Given the description of an element on the screen output the (x, y) to click on. 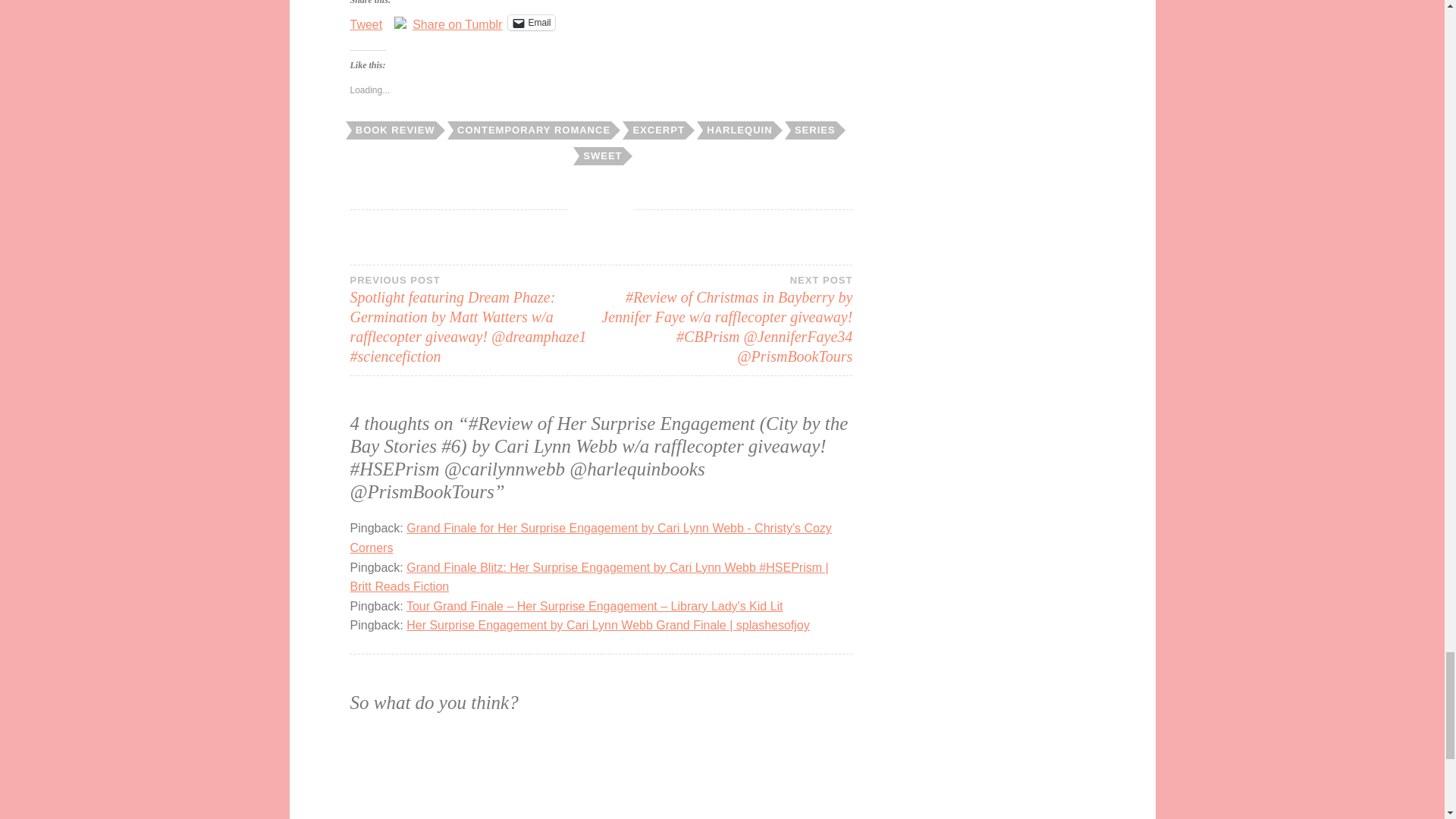
Click to email a link to a friend (531, 22)
Comment Form (601, 776)
Share on Tumblr (457, 21)
